Given the description of an element on the screen output the (x, y) to click on. 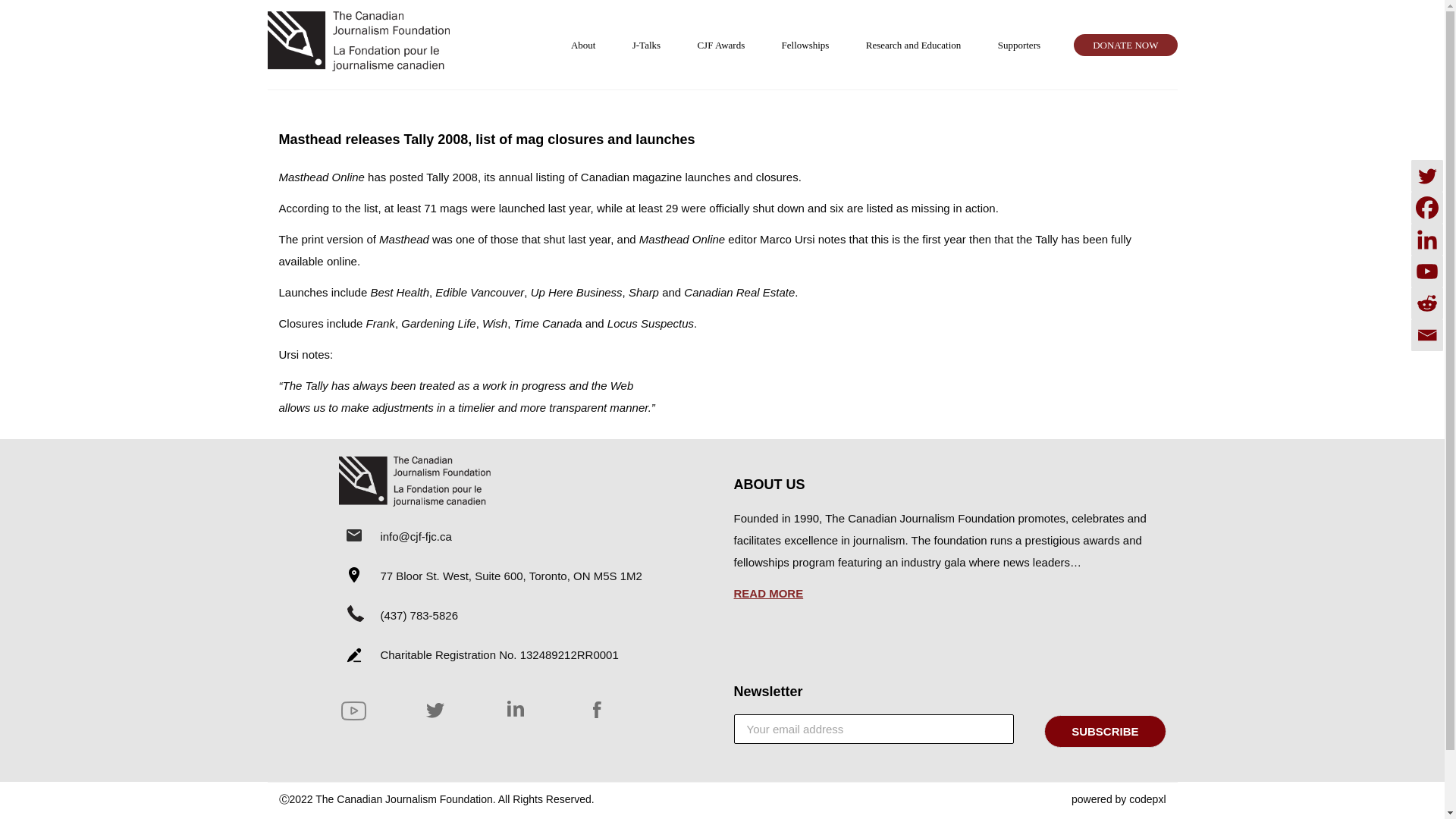
Email (1426, 335)
Linkedin (1426, 239)
Subscribe (1104, 730)
Twitter (1426, 175)
Youtube (1426, 271)
Reddit (1426, 303)
Facebook (1426, 207)
